Given the description of an element on the screen output the (x, y) to click on. 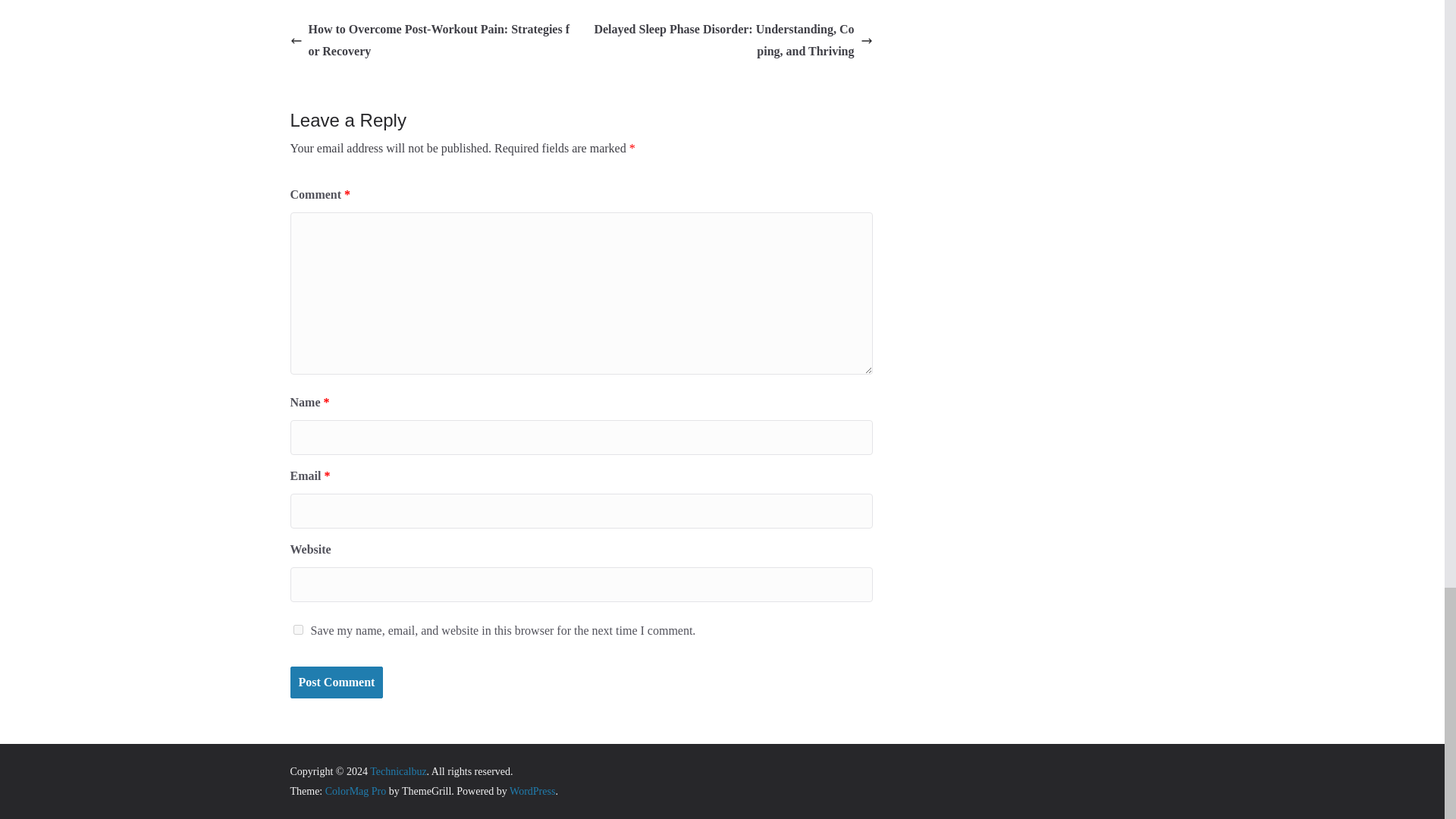
Technicalbuz (397, 771)
How to Overcome Post-Workout Pain: Strategies for Recovery (431, 40)
Post Comment (335, 682)
ColorMag Pro (355, 790)
WordPress (531, 790)
WordPress (531, 790)
yes (297, 629)
Post Comment (335, 682)
Technicalbuz (397, 771)
ColorMag Pro (355, 790)
